Given the description of an element on the screen output the (x, y) to click on. 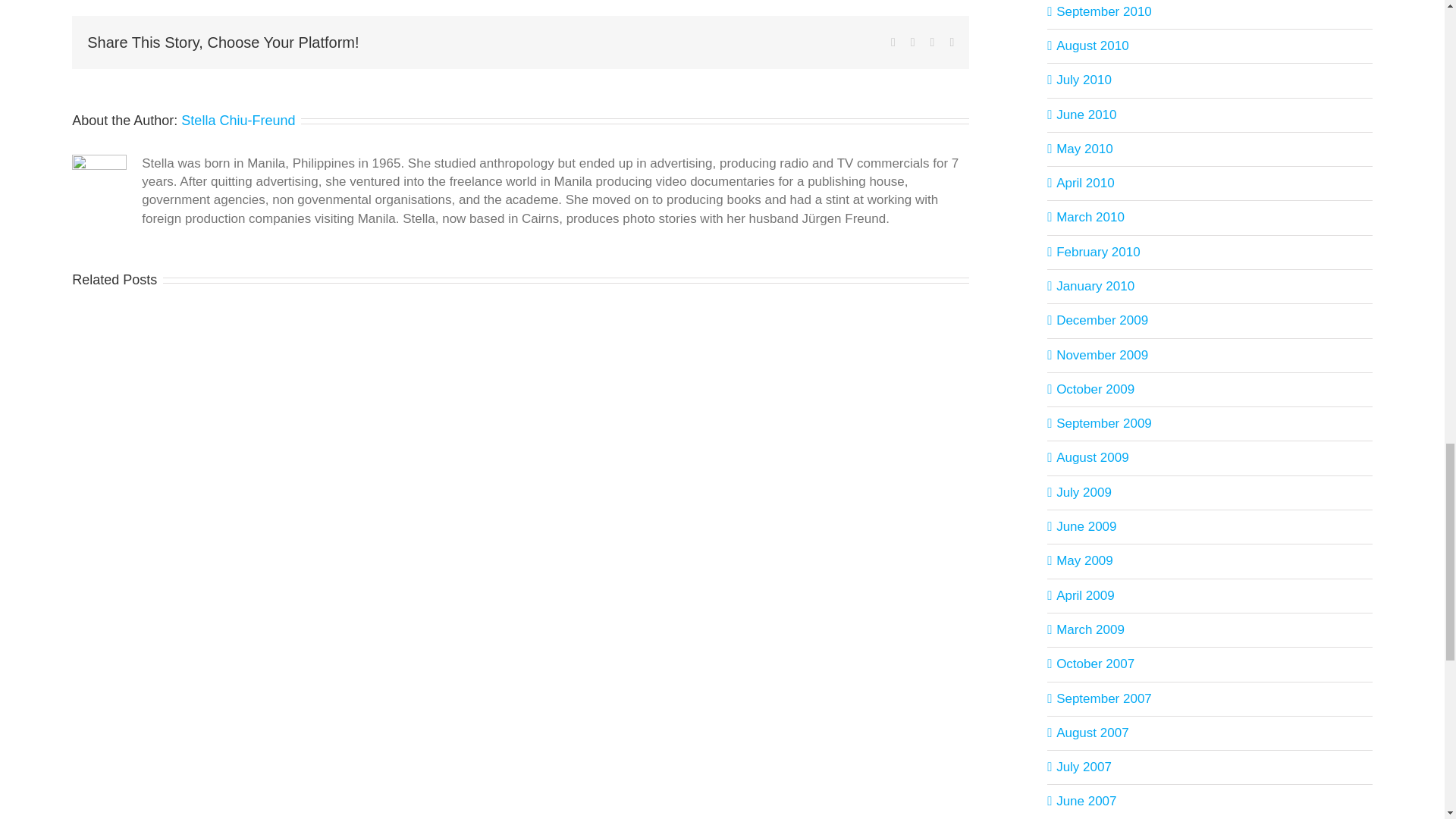
Posts by Stella Chiu-Freund (237, 120)
